Given the description of an element on the screen output the (x, y) to click on. 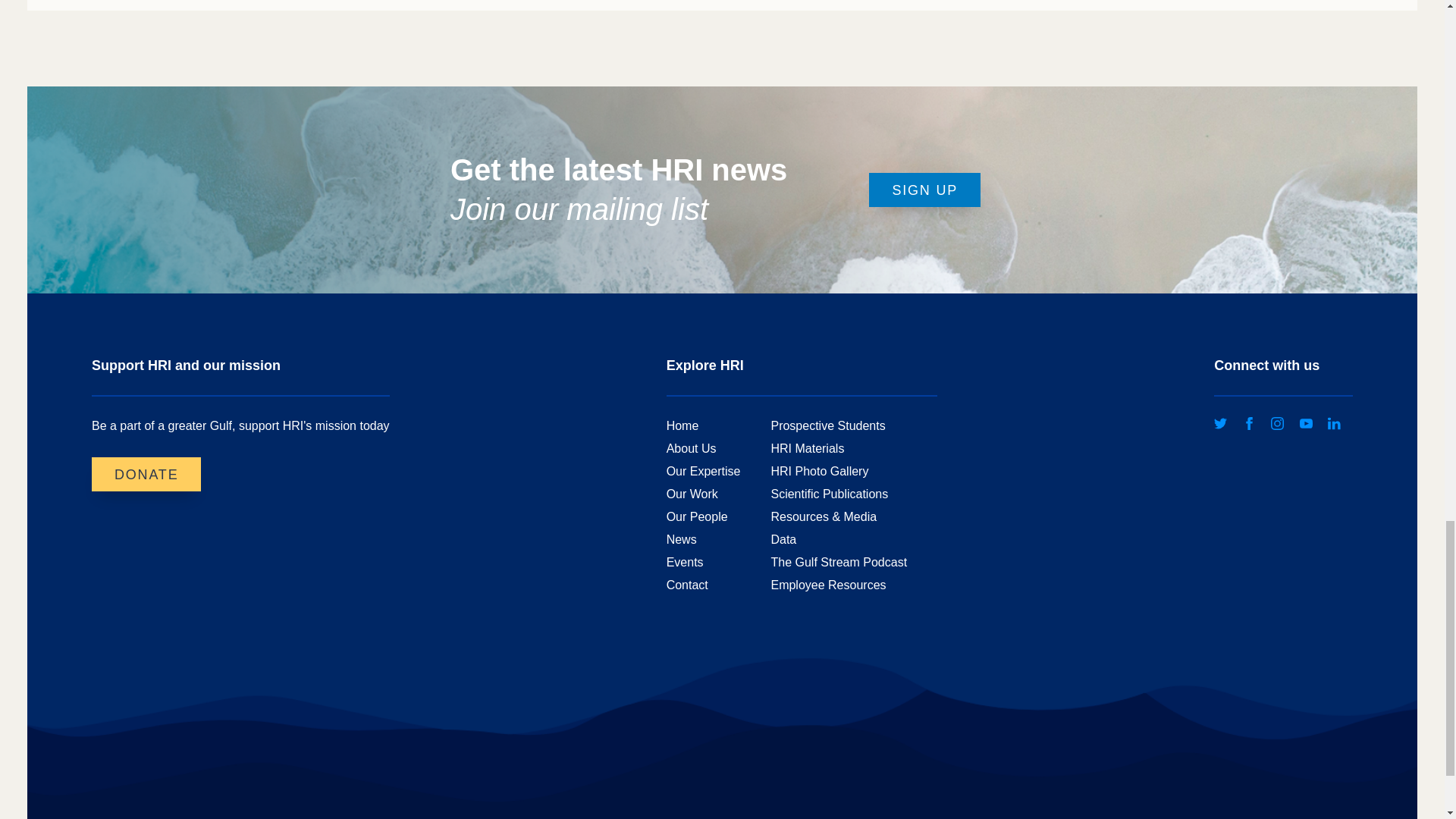
About Us (691, 448)
Home (682, 426)
HRI Publication Repository (829, 494)
SIGN UP (924, 189)
DONATE (145, 474)
